Given the description of an element on the screen output the (x, y) to click on. 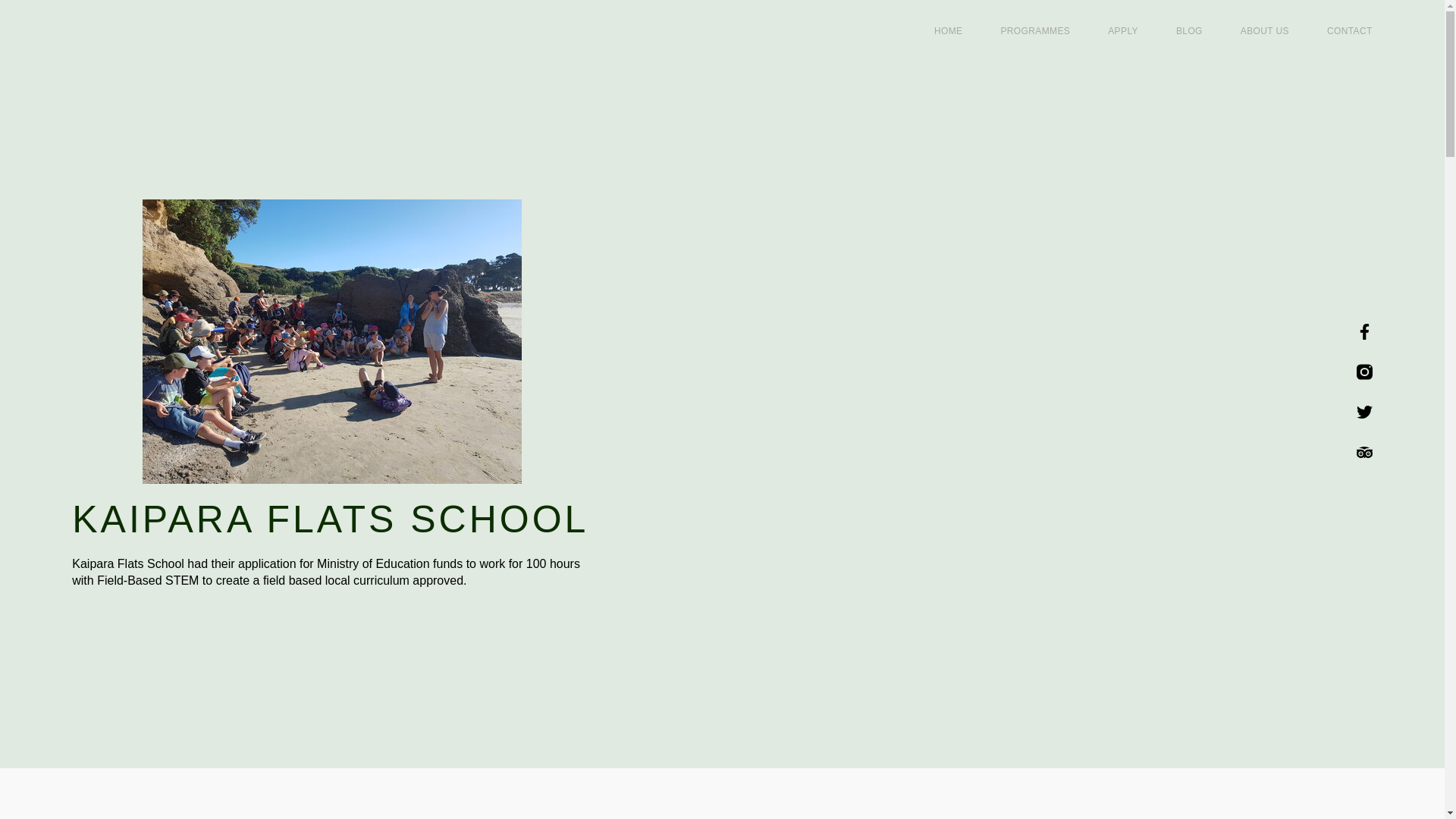
ABOUT US (1264, 30)
HOME (948, 30)
APPLY (1123, 30)
CONTACT (1349, 30)
BLOG (1189, 30)
PROGRAMMES (1035, 30)
